Given the description of an element on the screen output the (x, y) to click on. 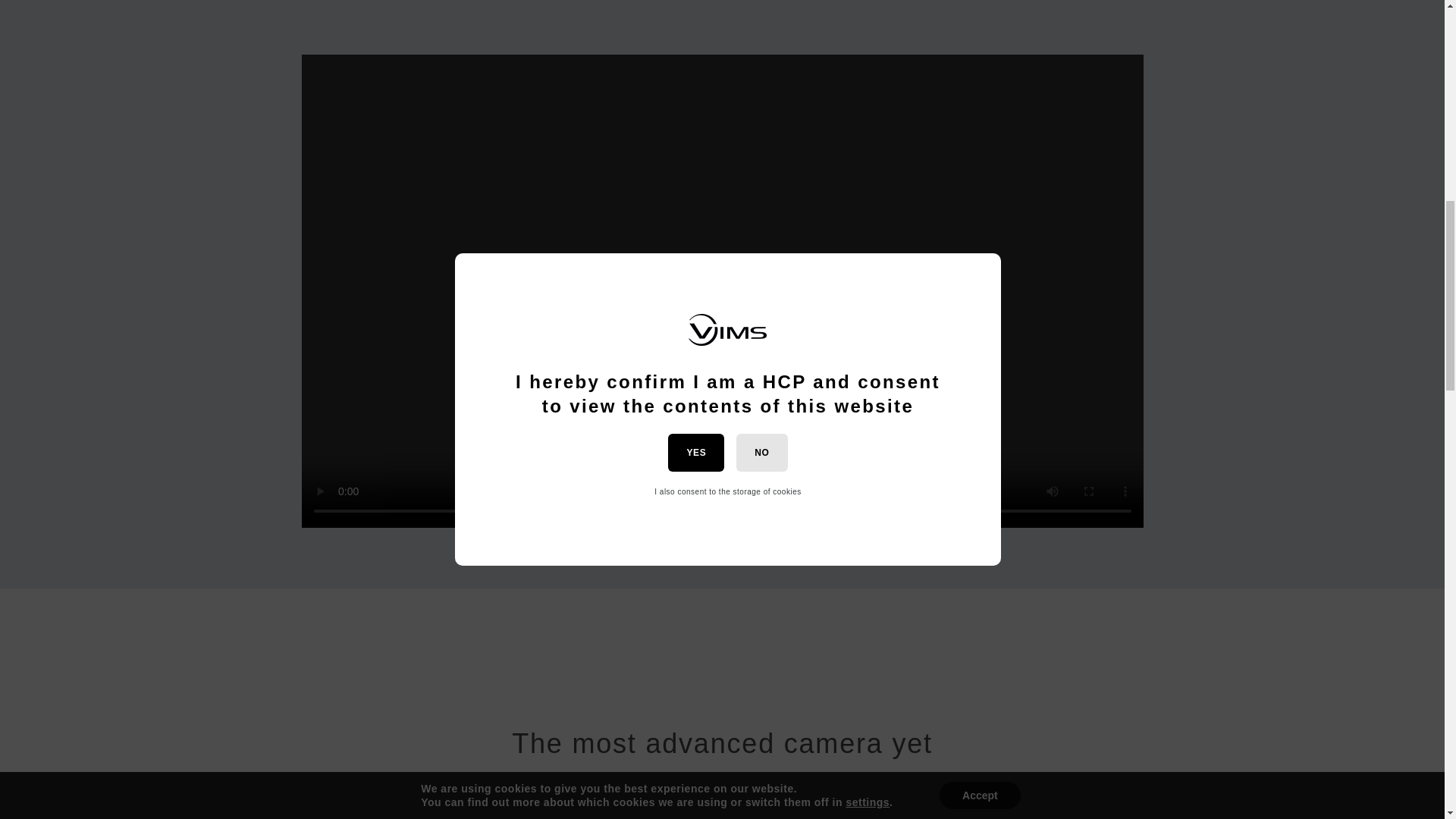
Play Video (722, 291)
